Given the description of an element on the screen output the (x, y) to click on. 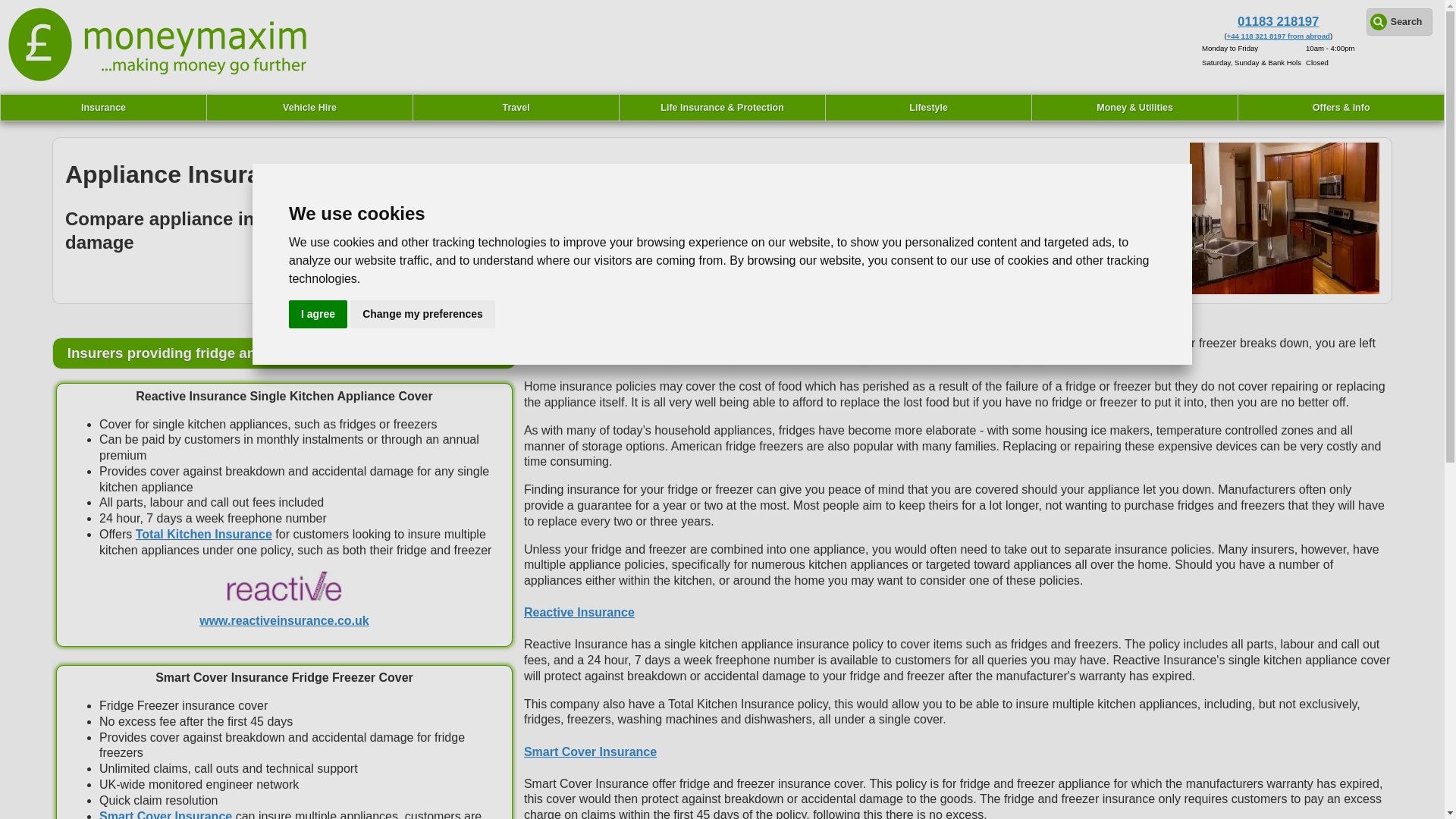
Change my preferences (422, 314)
I agree (317, 314)
